Given the description of an element on the screen output the (x, y) to click on. 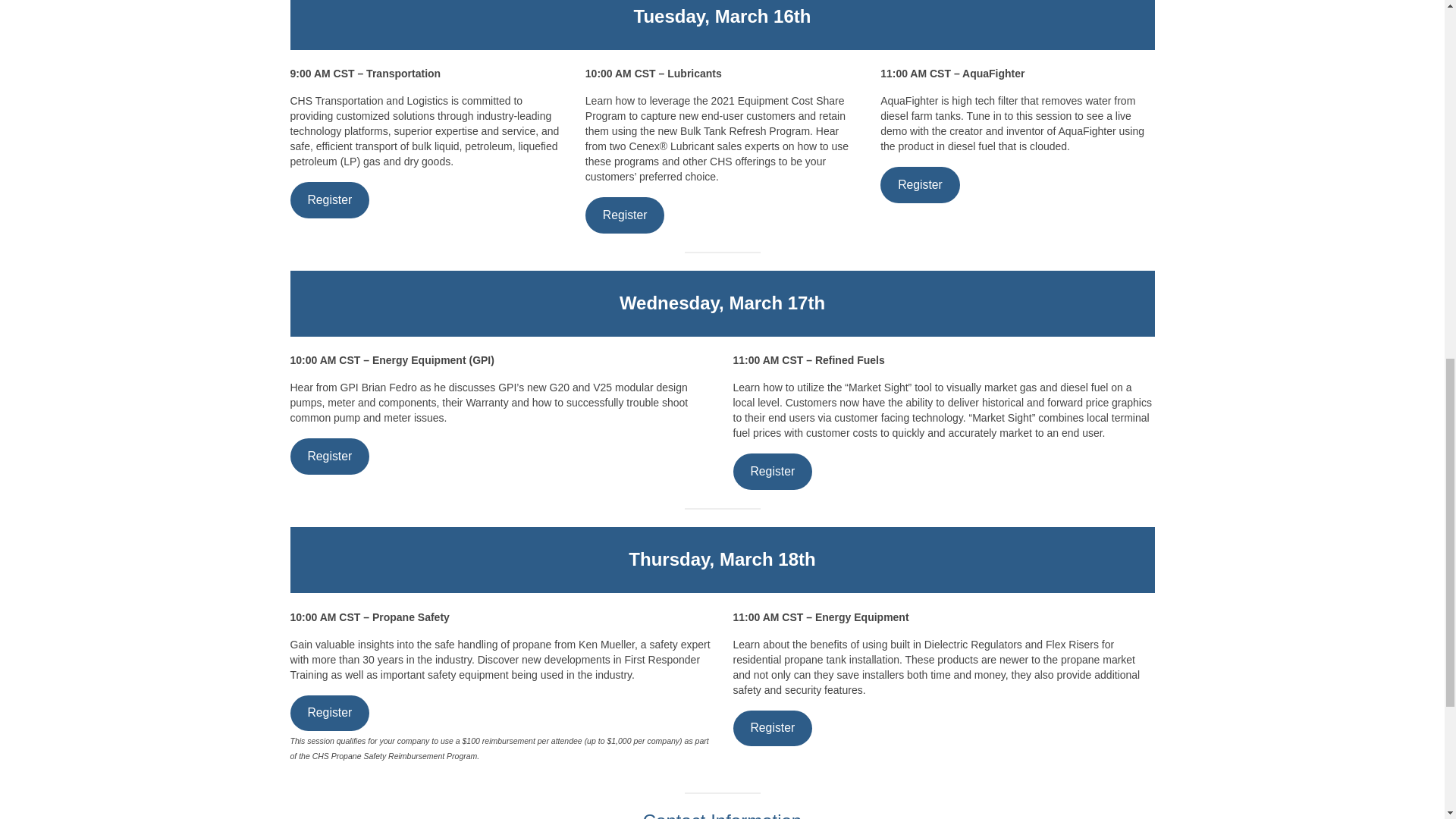
Register (329, 199)
Register (329, 456)
Register (625, 214)
Register (919, 184)
Register (329, 713)
Register (772, 470)
Register (772, 728)
